Given the description of an element on the screen output the (x, y) to click on. 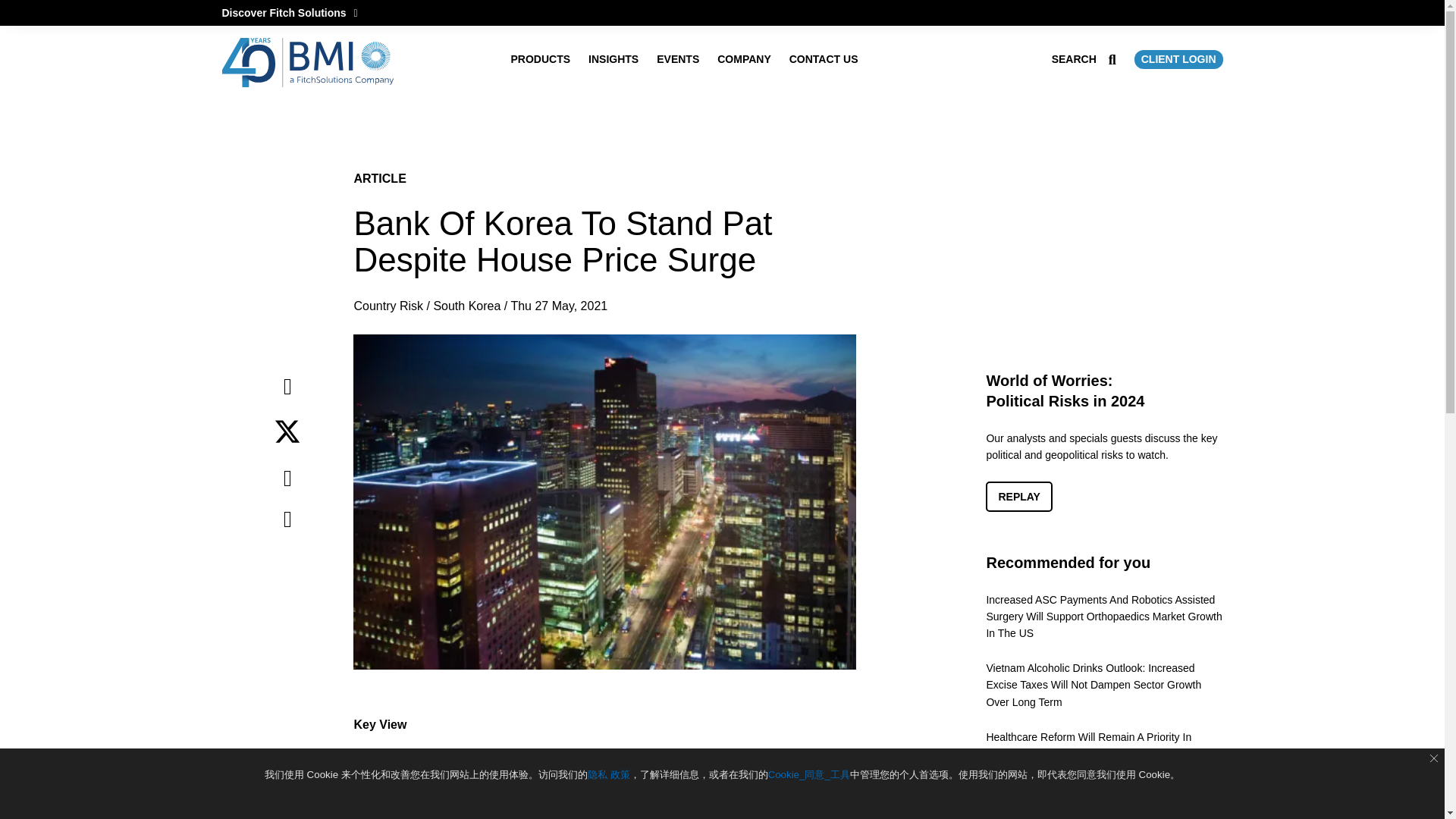
ARTICLE (379, 178)
REPLAY (1018, 496)
EVENTS (677, 59)
CONTACT US (824, 59)
SEARCH (1083, 59)
Country Risk (388, 305)
South Korea (466, 305)
